Given the description of an element on the screen output the (x, y) to click on. 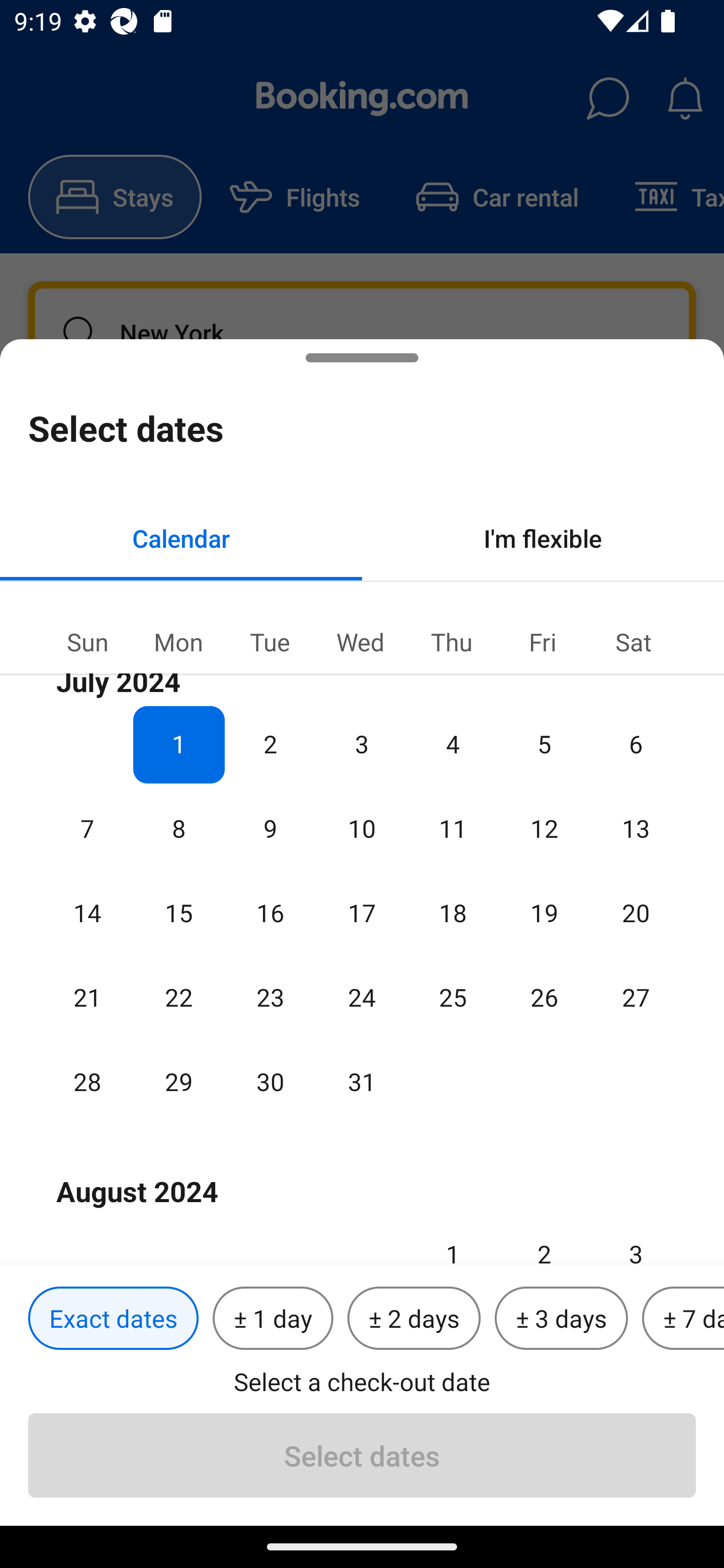
I'm flexible (543, 537)
Exact dates (113, 1318)
± 1 day (272, 1318)
± 2 days (413, 1318)
± 3 days (560, 1318)
± 7 days (683, 1318)
Select dates (361, 1454)
